Given the description of an element on the screen output the (x, y) to click on. 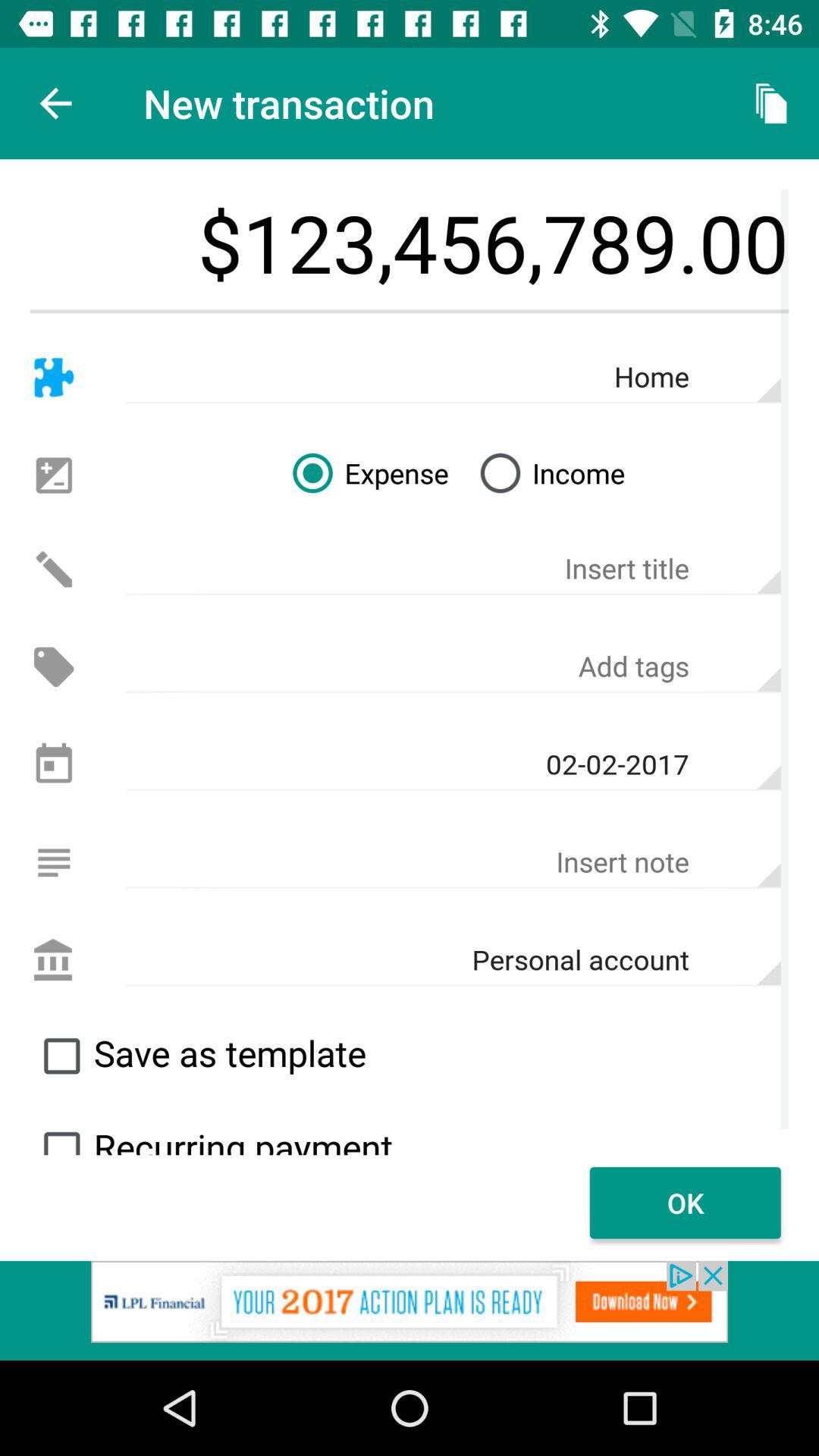
fill data (452, 862)
